Given the description of an element on the screen output the (x, y) to click on. 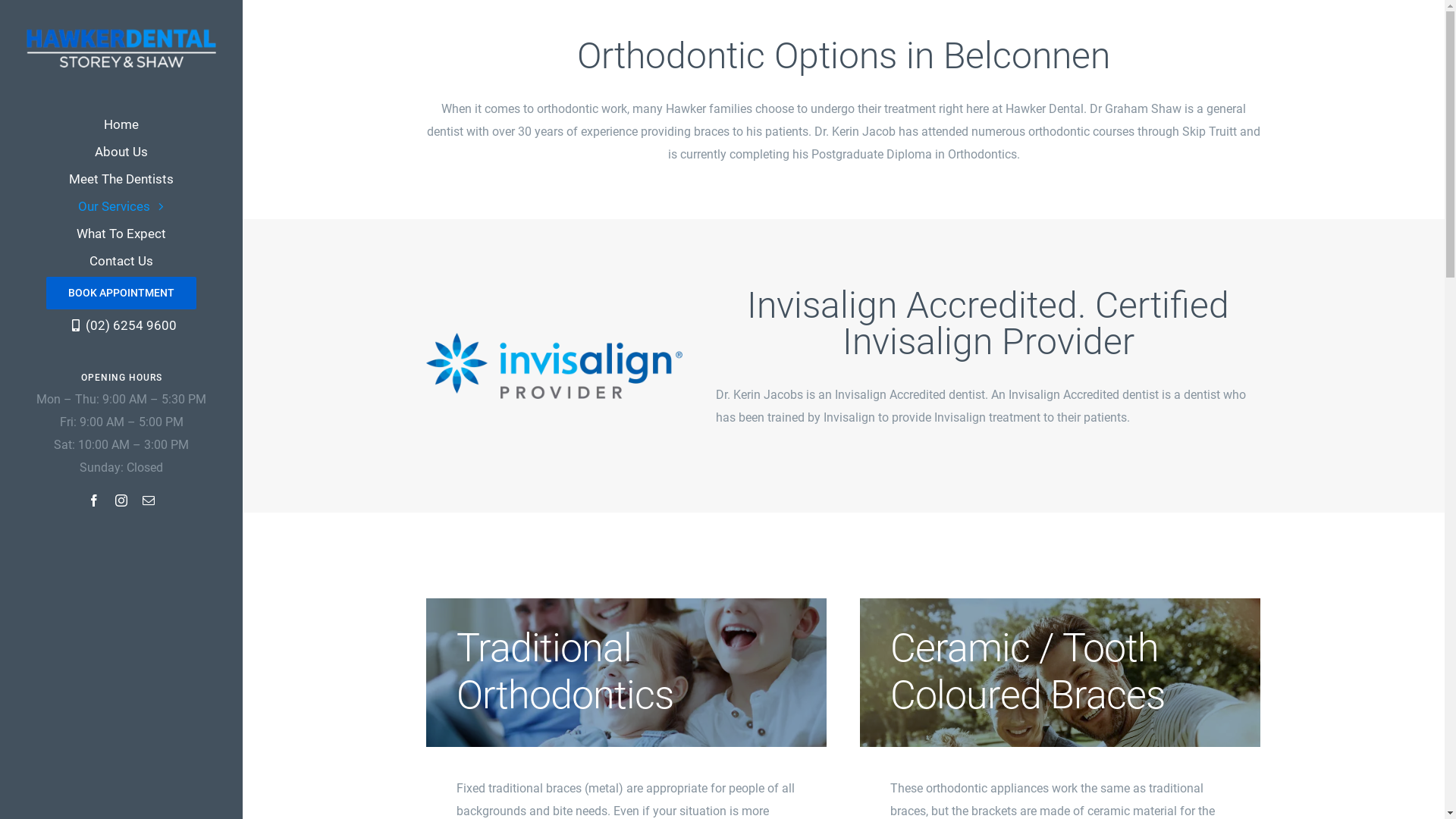
Our Services Element type: text (121, 205)
Contact Us Element type: text (121, 260)
What To Expect Element type: text (121, 233)
(02) 6254 9600 Element type: text (121, 324)
BOOK APPOINTMENT Element type: text (121, 292)
Invisalign-Provider-Logo-RGB Element type: hover (553, 365)
Home Element type: text (121, 123)
About Us Element type: text (121, 151)
Meet The Dentists Element type: text (121, 178)
